Given the description of an element on the screen output the (x, y) to click on. 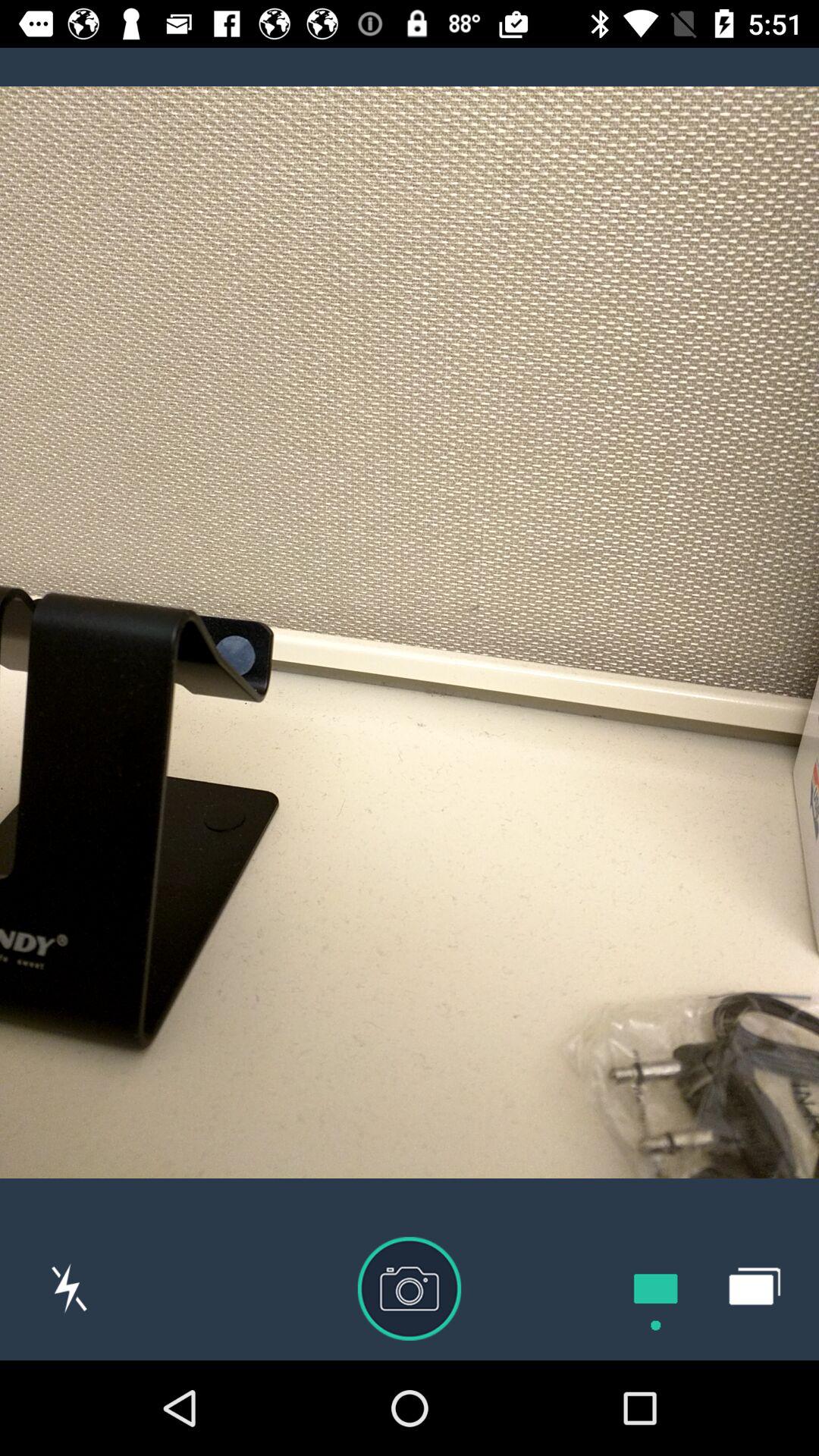
press icon at the center (409, 632)
